Given the description of an element on the screen output the (x, y) to click on. 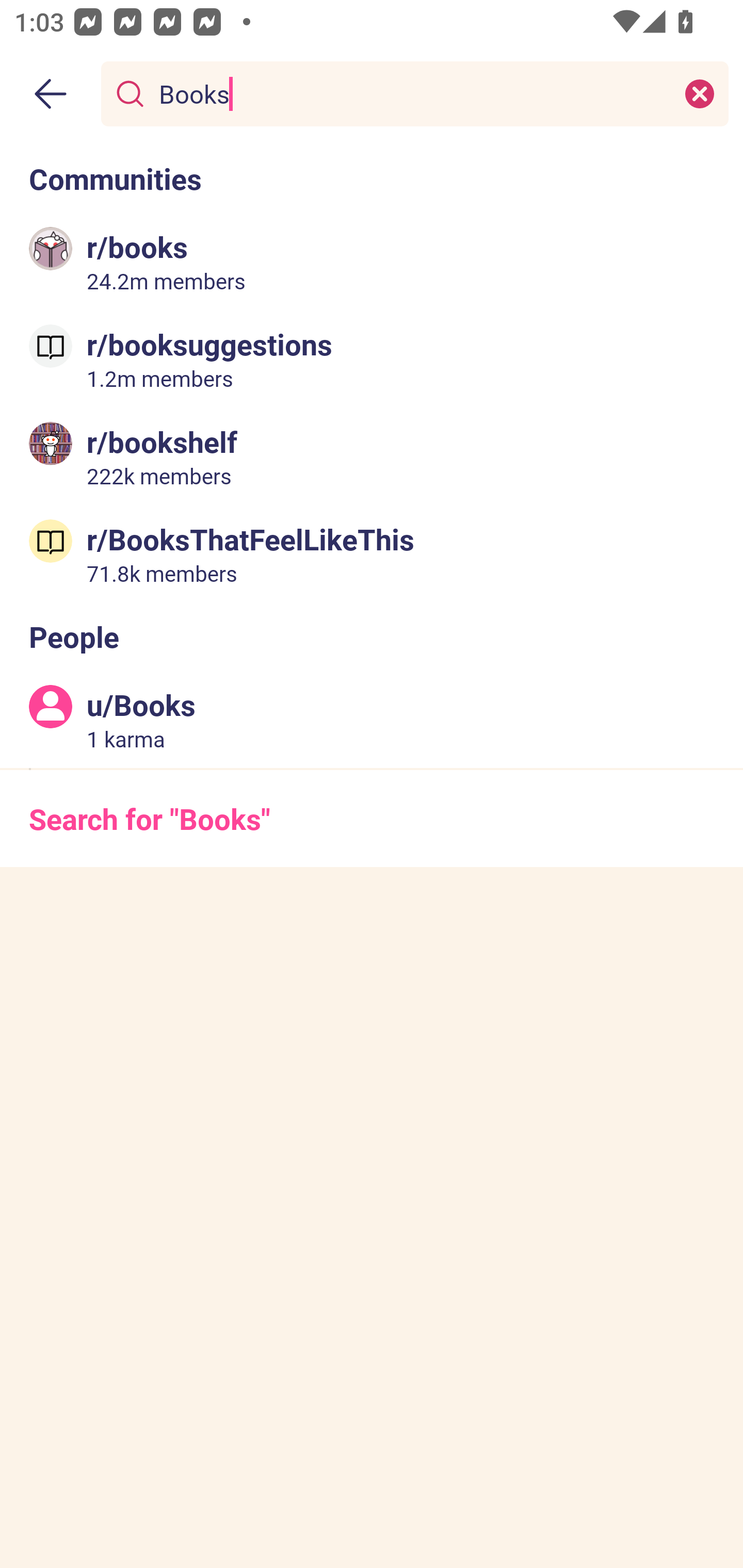
Back (50, 93)
Books (410, 93)
Clear search (699, 93)
r/books 24.2m members 24.2 million members (371, 261)
r/booksuggestions 1.2m members 1.2 million members (371, 358)
r/bookshelf 222k members 222 thousand members (371, 455)
u/Books 1 karma 1 karma (371, 719)
Search for "Books" (371, 818)
